Given the description of an element on the screen output the (x, y) to click on. 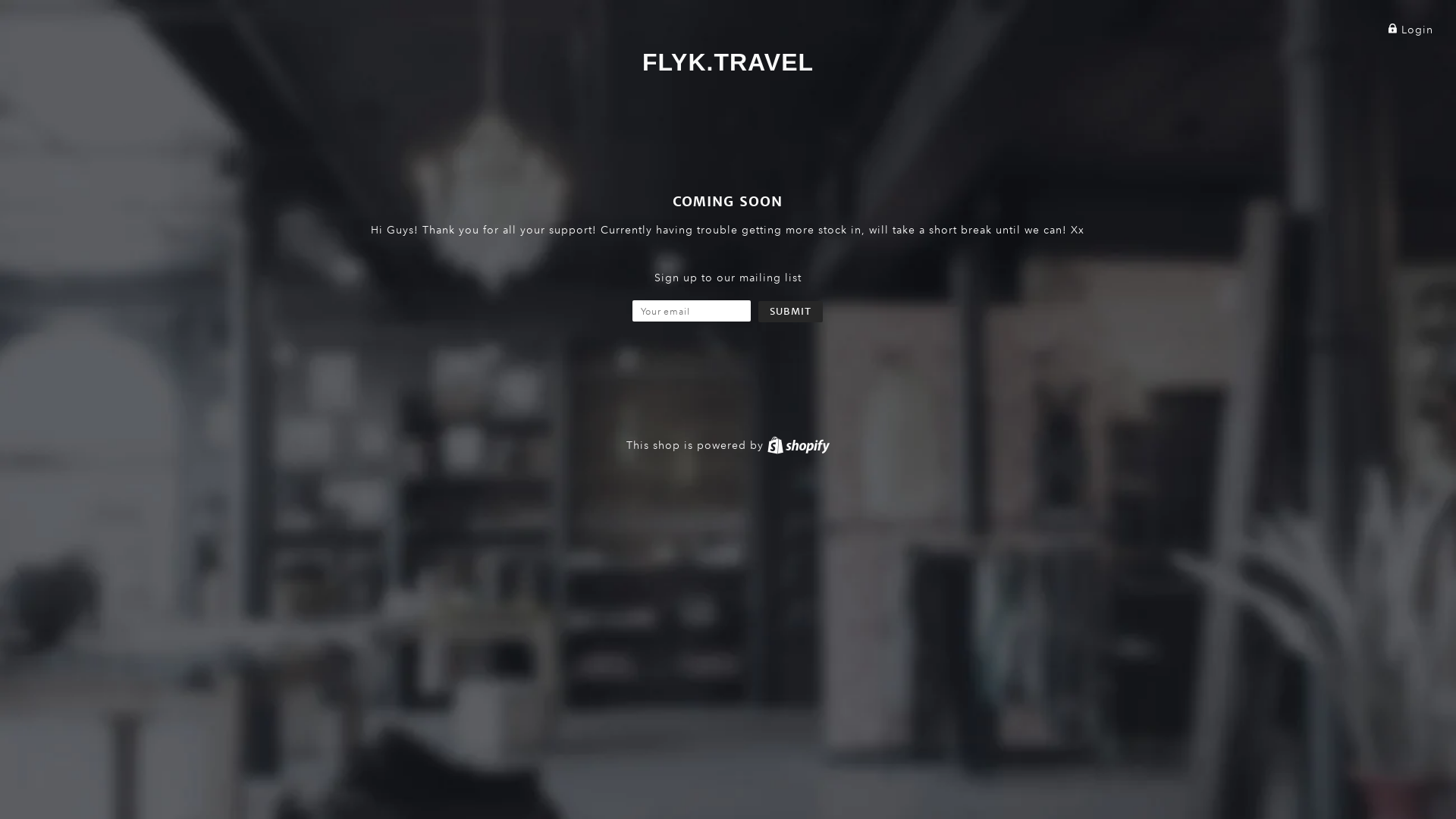
FLYK.TRAVEL Element type: text (727, 61)
Enter Element type: text (677, 447)
Create your own online store with Shopify Element type: hover (798, 444)
submit Element type: text (790, 311)
Login Element type: text (1410, 29)
